Given the description of an element on the screen output the (x, y) to click on. 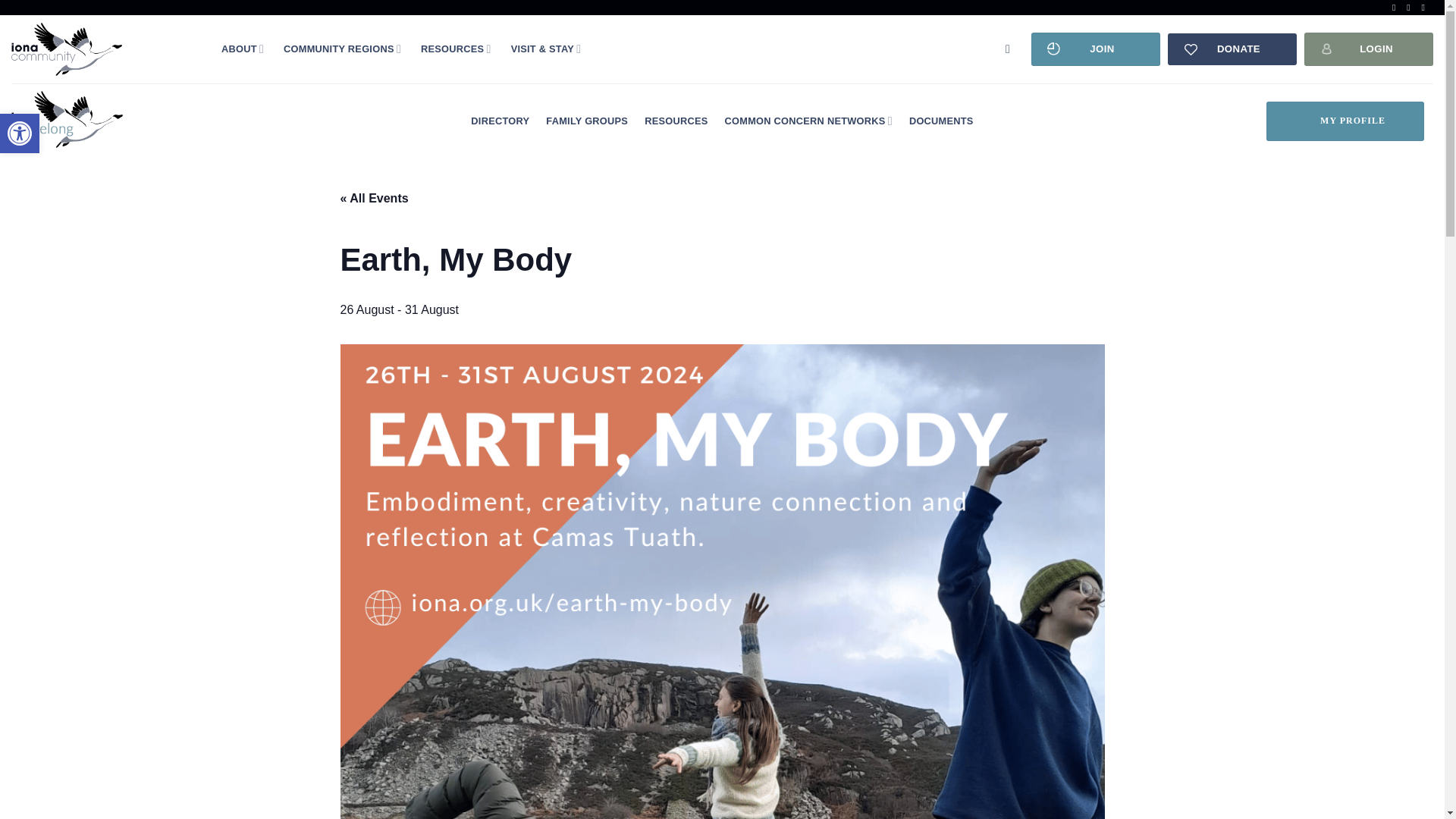
ABOUT (19, 133)
Accessibility Tools (242, 48)
Iona Community (19, 133)
Accessibility Tools (104, 49)
